Given the description of an element on the screen output the (x, y) to click on. 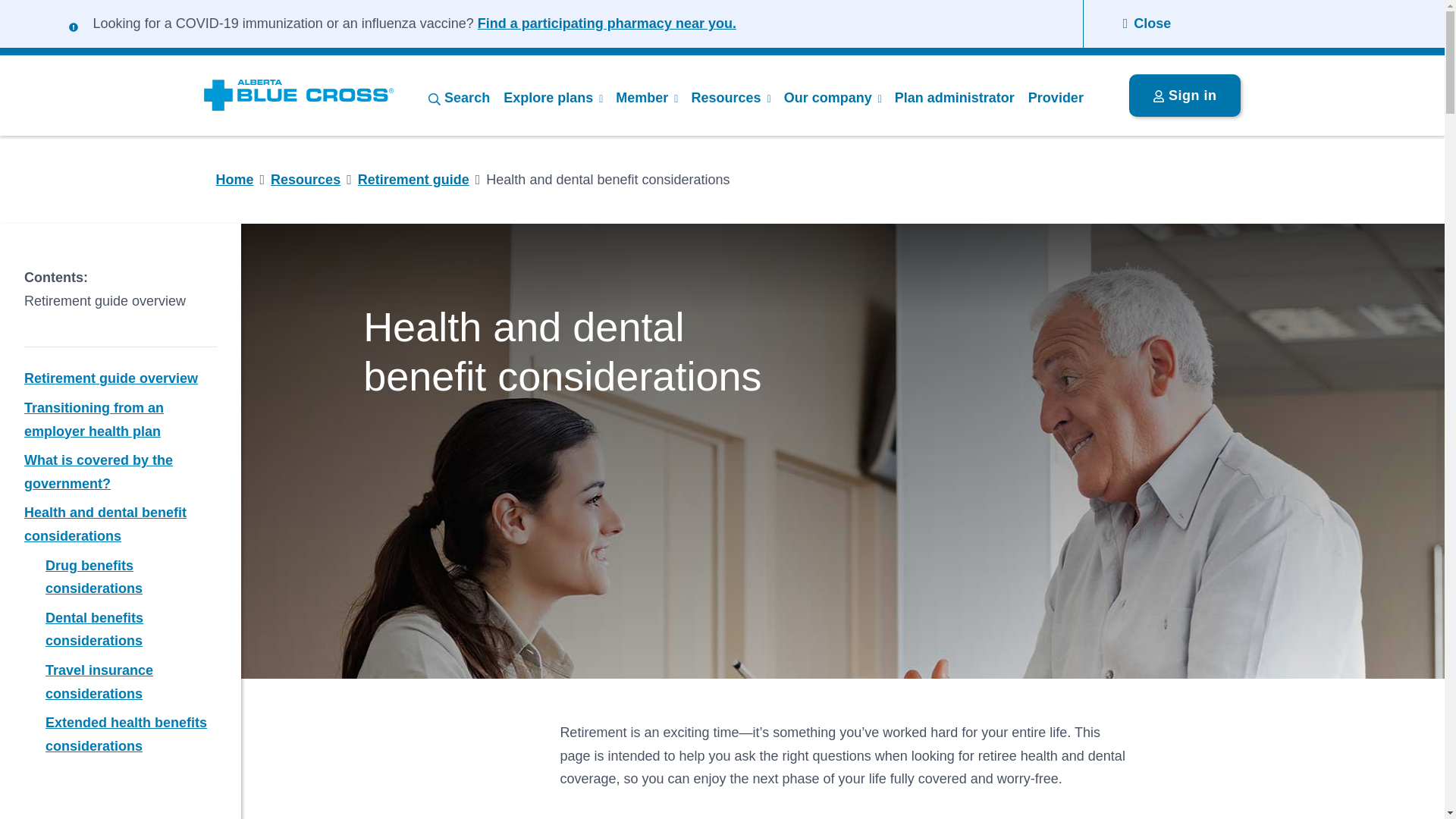
Find a participating pharmacy near you. (606, 23)
